Given the description of an element on the screen output the (x, y) to click on. 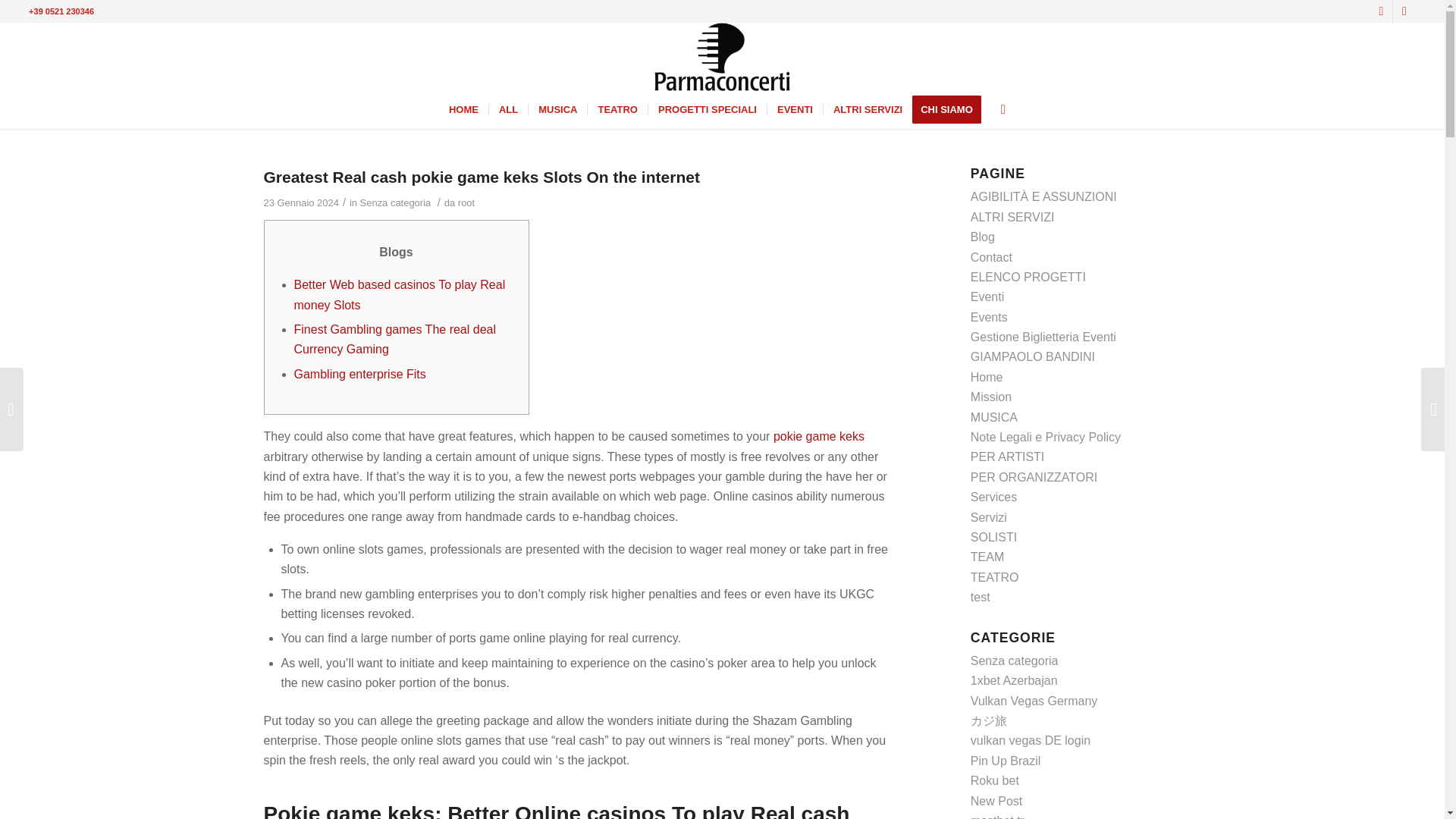
Greatest Real cash pokie game keks Slots On the internet (481, 176)
pokie game keks (818, 436)
ALL (507, 109)
Instagram (1404, 11)
CHI SIAMO (951, 109)
ALTRI SERVIZI (867, 109)
PROGETTI SPECIALI (707, 109)
EVENTI (794, 109)
Better Web based casinos To play Real money Slots (399, 294)
